Given the description of an element on the screen output the (x, y) to click on. 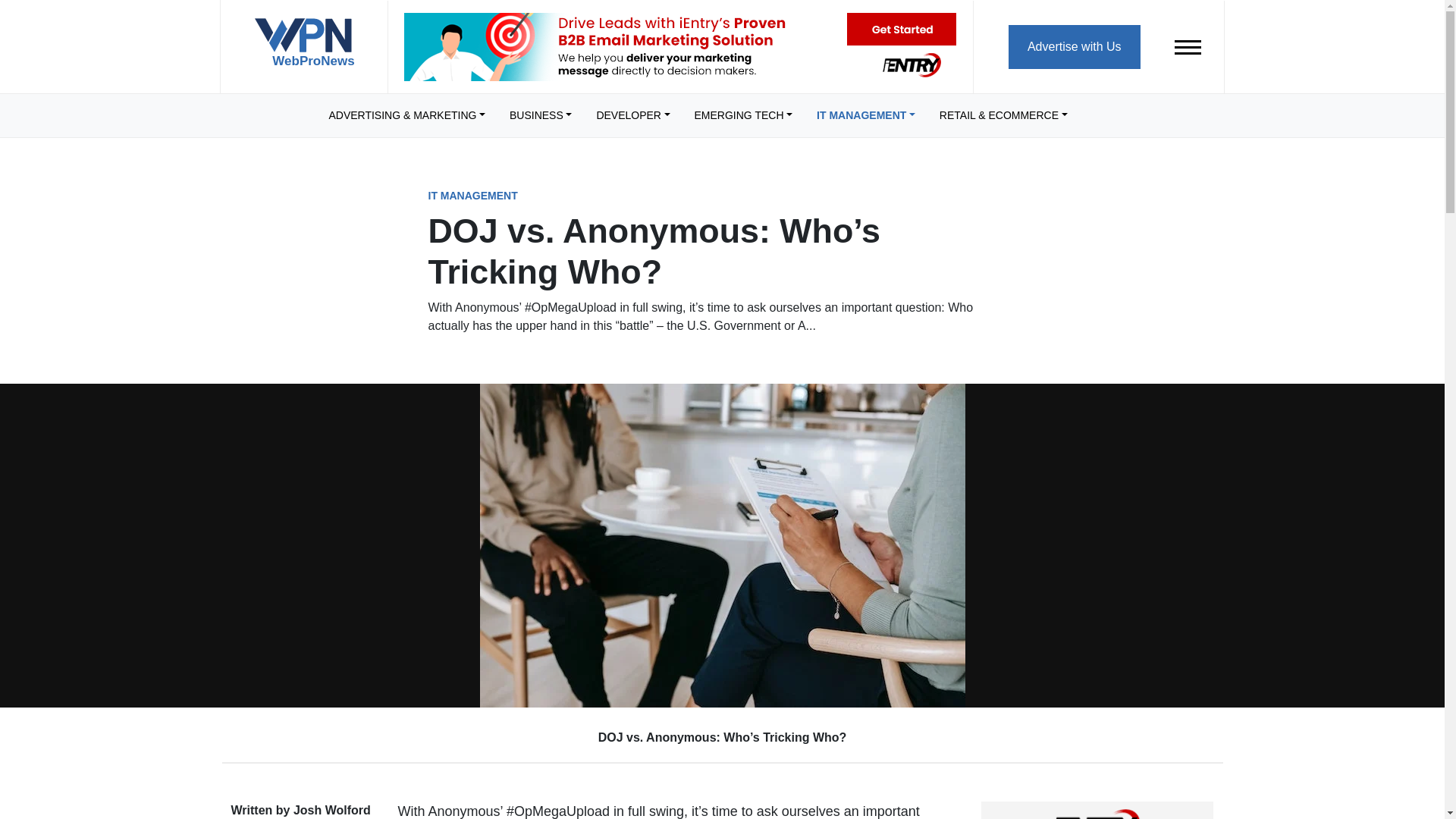
WebProNews (303, 49)
Advertise with Us (1074, 45)
